Given the description of an element on the screen output the (x, y) to click on. 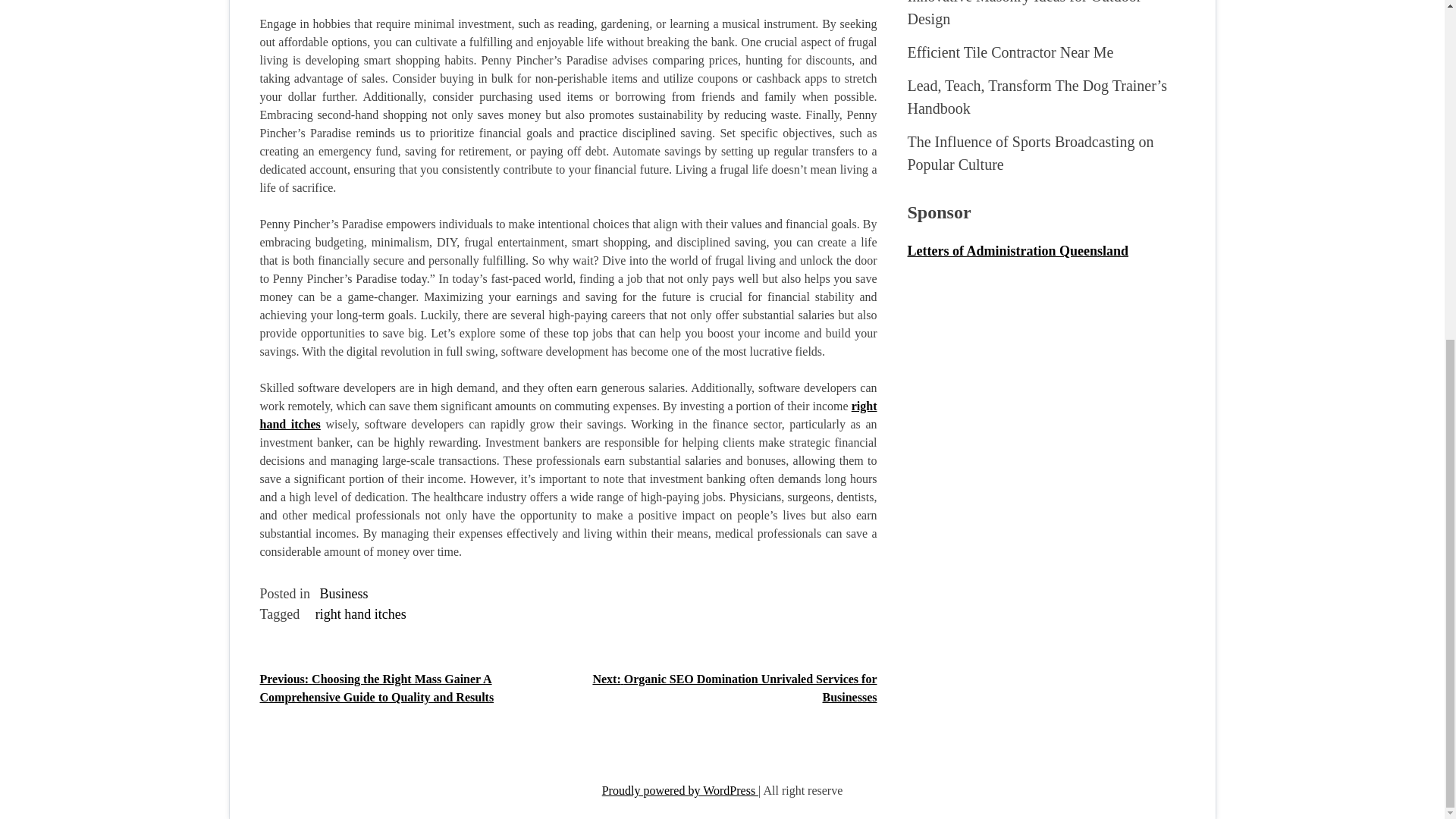
Efficient Tile Contractor Near Me (1010, 52)
Letters of Administration Queensland (1017, 250)
Innovative Masonry Ideas for Outdoor Design (1024, 13)
Business (344, 593)
The Influence of Sports Broadcasting on Popular Culture (1030, 152)
Proudly powered by WordPress (680, 789)
right hand itches (360, 613)
right hand itches (567, 414)
